Given the description of an element on the screen output the (x, y) to click on. 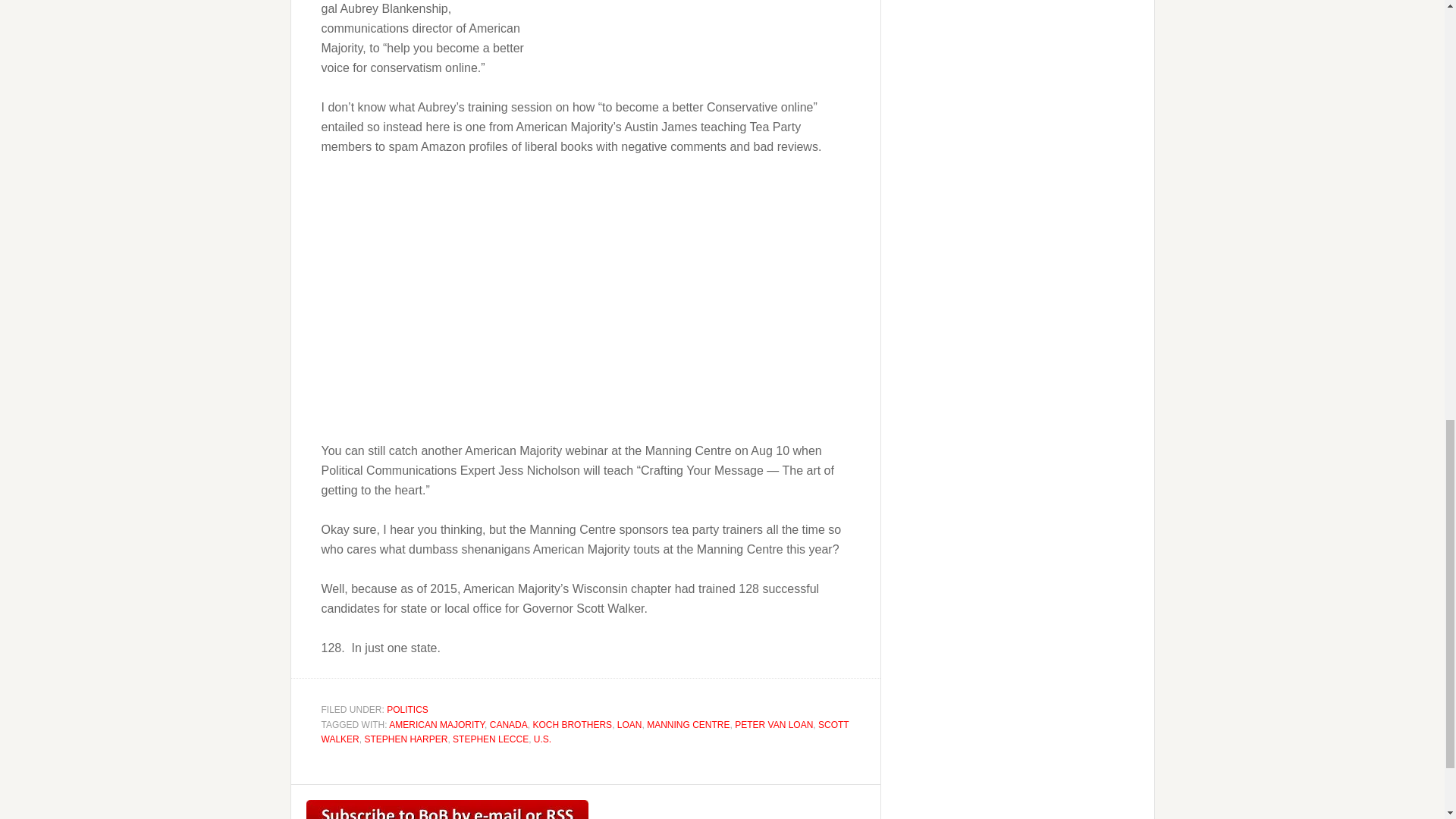
STEPHEN LECCE (490, 738)
LOAN (629, 724)
PETER VAN LOAN (773, 724)
MANNING CENTRE (687, 724)
STEPHEN HARPER (405, 738)
POLITICS (407, 709)
CANADA (508, 724)
KOCH BROTHERS (571, 724)
U.S. (542, 738)
AMERICAN MAJORITY (436, 724)
